Given the description of an element on the screen output the (x, y) to click on. 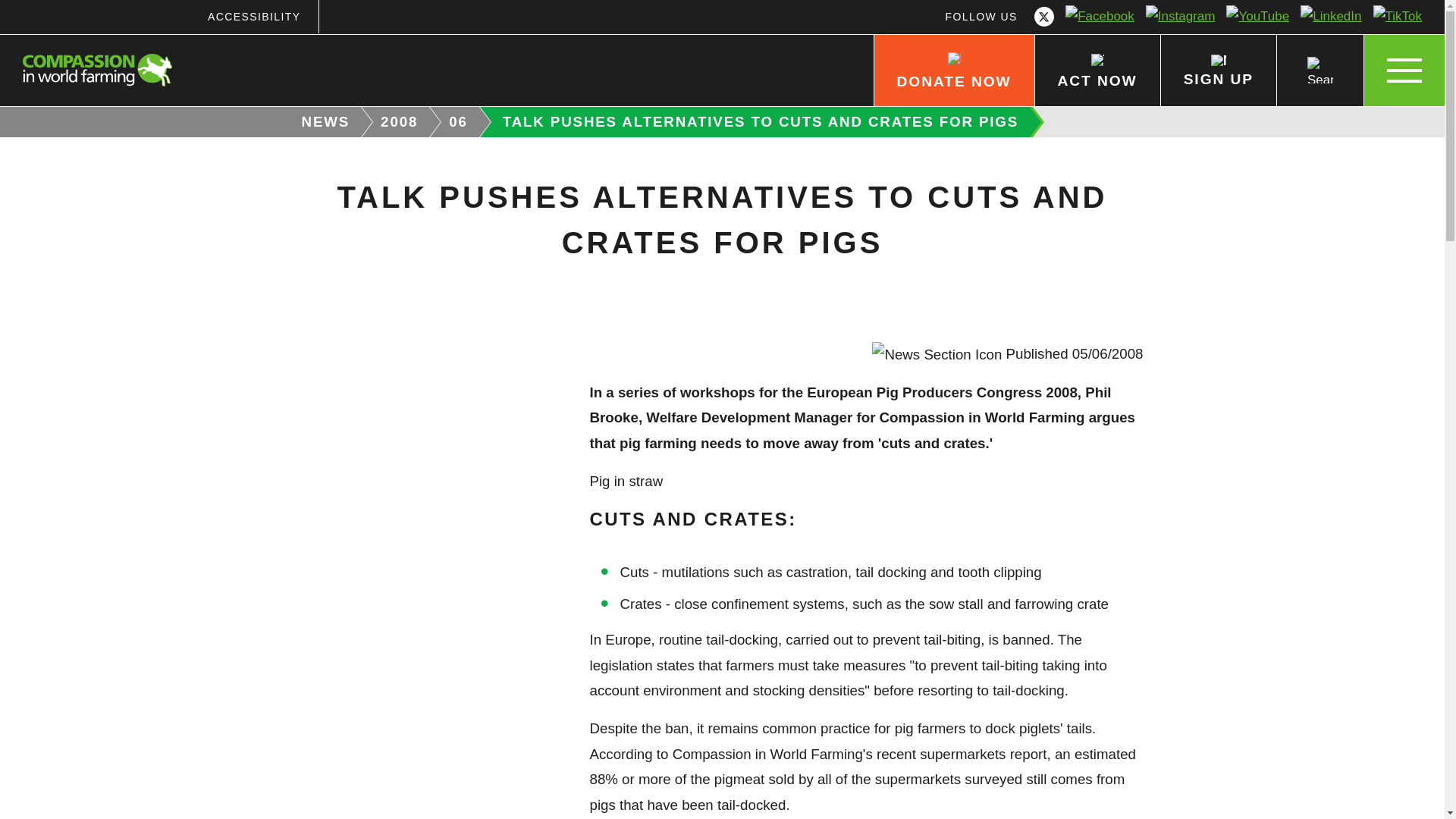
ACCESSIBILITY (253, 16)
SIGN UP (1218, 70)
Facebook (1099, 16)
NEWS (320, 122)
YouTube (1258, 16)
ACT NOW (1096, 70)
Skip to Content (773, 1)
06 (460, 122)
Instagram (1180, 16)
DONATE NOW (953, 70)
